Given the description of an element on the screen output the (x, y) to click on. 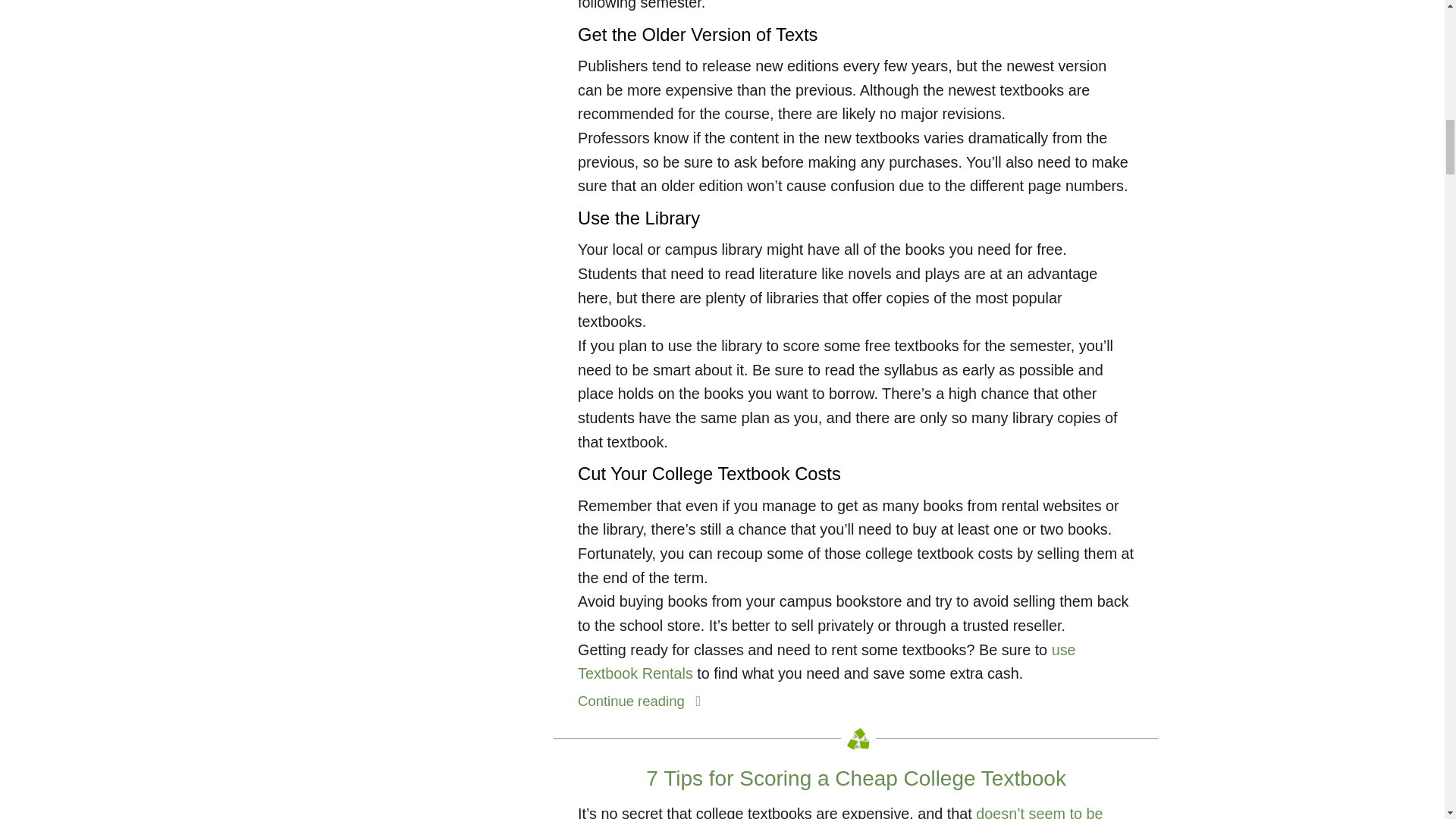
use Textbook Rentals (826, 661)
Continue reading (642, 700)
The Secret Behind Cutting College Textbook Costs (642, 700)
7 Tips for Scoring a Cheap College Textbook (855, 778)
7 Tips for Scoring a Cheap College Textbook (855, 778)
